Given the description of an element on the screen output the (x, y) to click on. 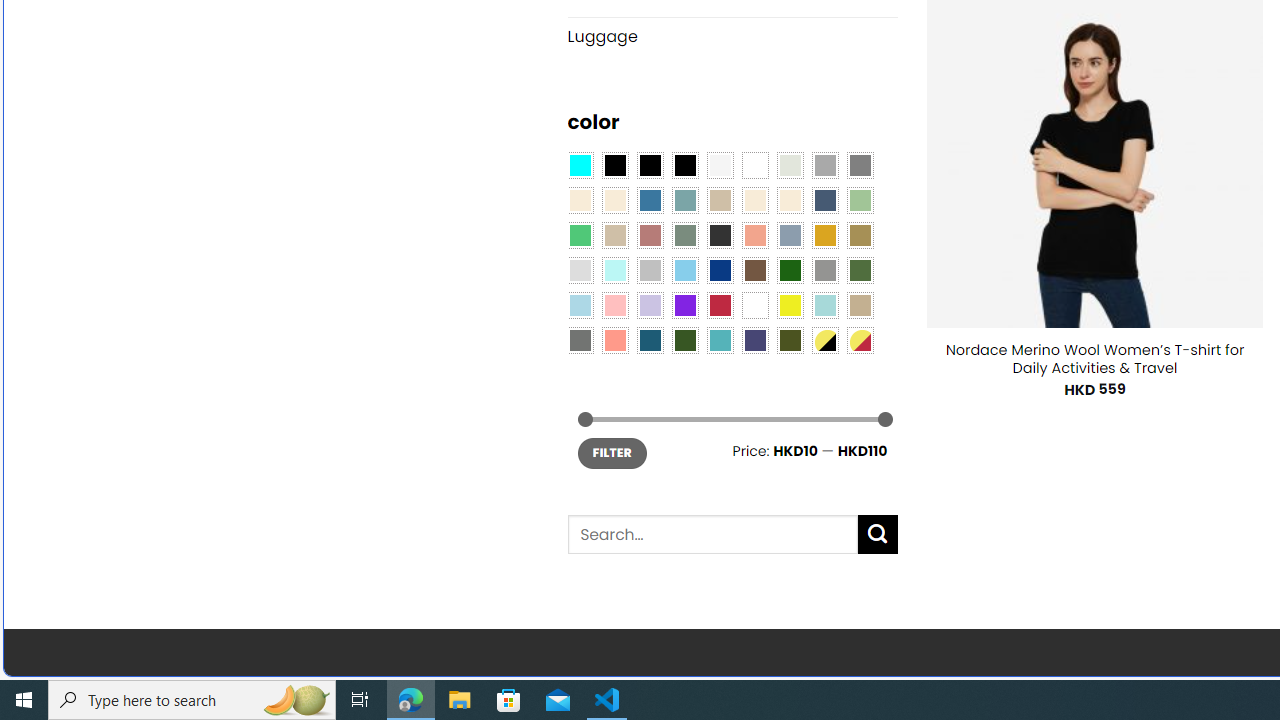
Army Green (789, 339)
Submit (877, 533)
Dark Green (789, 269)
Purple (684, 305)
Sage (684, 234)
Dusty Blue (789, 234)
Teal (719, 339)
Clear (755, 164)
Blue (650, 200)
Caramel (755, 200)
Pink (614, 305)
Khaki (859, 305)
Light Purple (650, 305)
Green (859, 269)
